Given the description of an element on the screen output the (x, y) to click on. 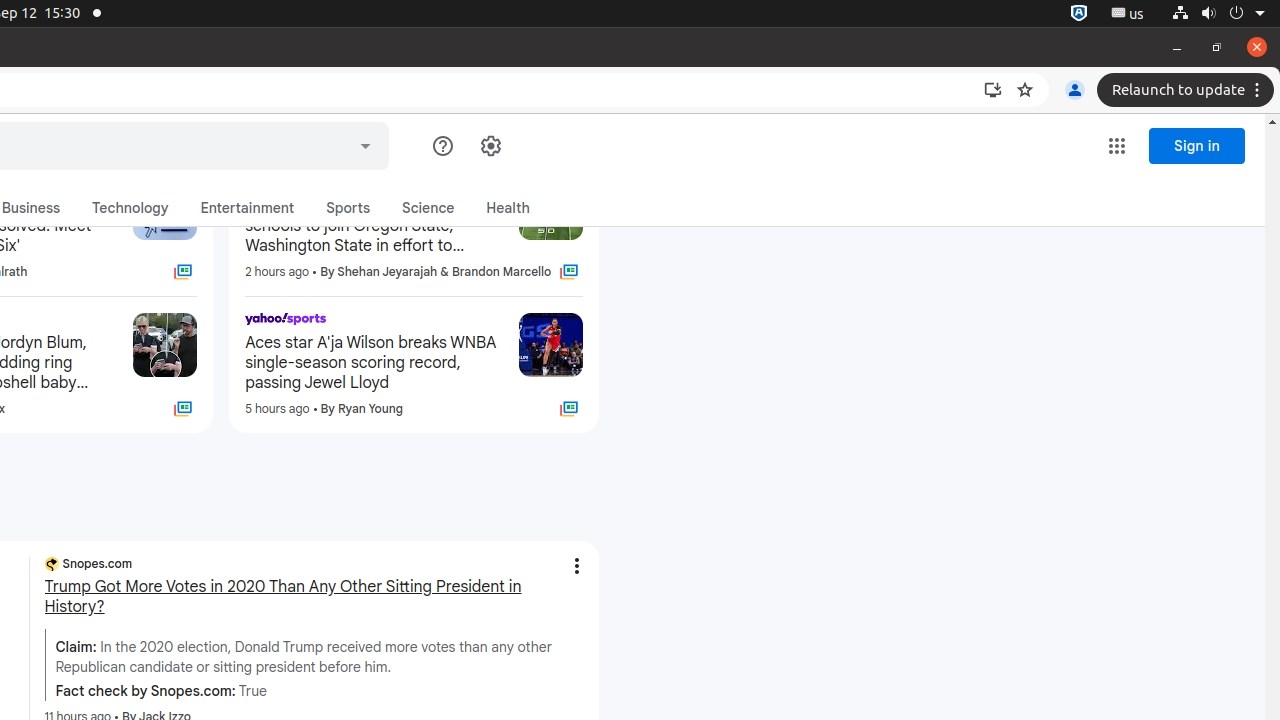
More - Dave Grohl’s wife, Jordyn Blum, spotted without wedding ring weeks before bombshell baby news Element type: push-button (111, 322)
More - Aces star A'ja Wilson breaks WNBA single-season scoring record, passing Jewel Lloyd Element type: push-button (496, 322)
Trump Got More Votes in 2020 Than Any Other Sitting President in History? Element type: link (313, 597)
:1.21/StatusNotifierItem Element type: menu (1127, 13)
Google apps Element type: push-button (1117, 145)
